Given the description of an element on the screen output the (x, y) to click on. 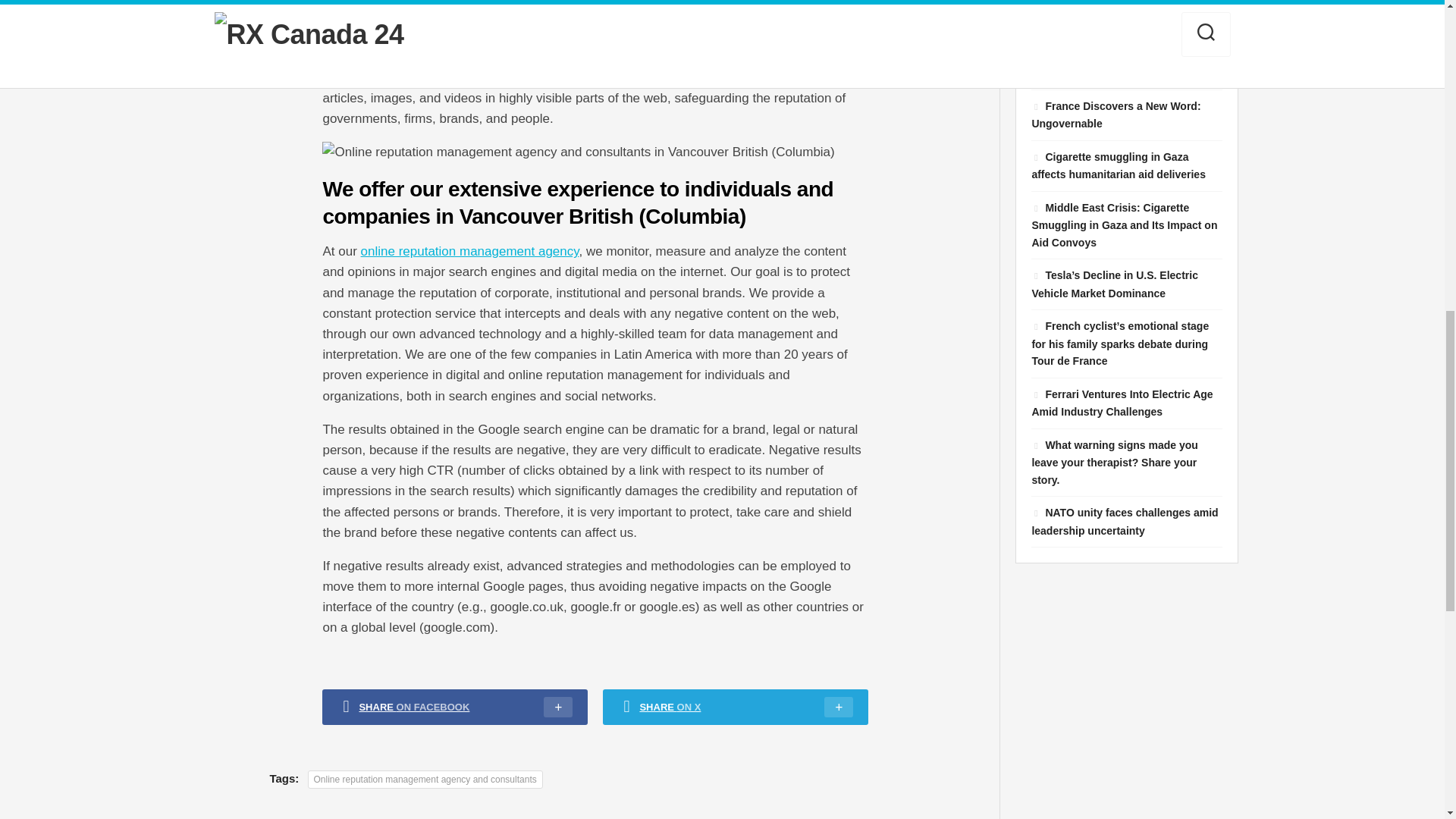
SHARE ON FACEBOOK (454, 706)
SHARE ON X (734, 706)
Online reputation management agency and consultants (425, 779)
online reputation management agency (470, 251)
